Given the description of an element on the screen output the (x, y) to click on. 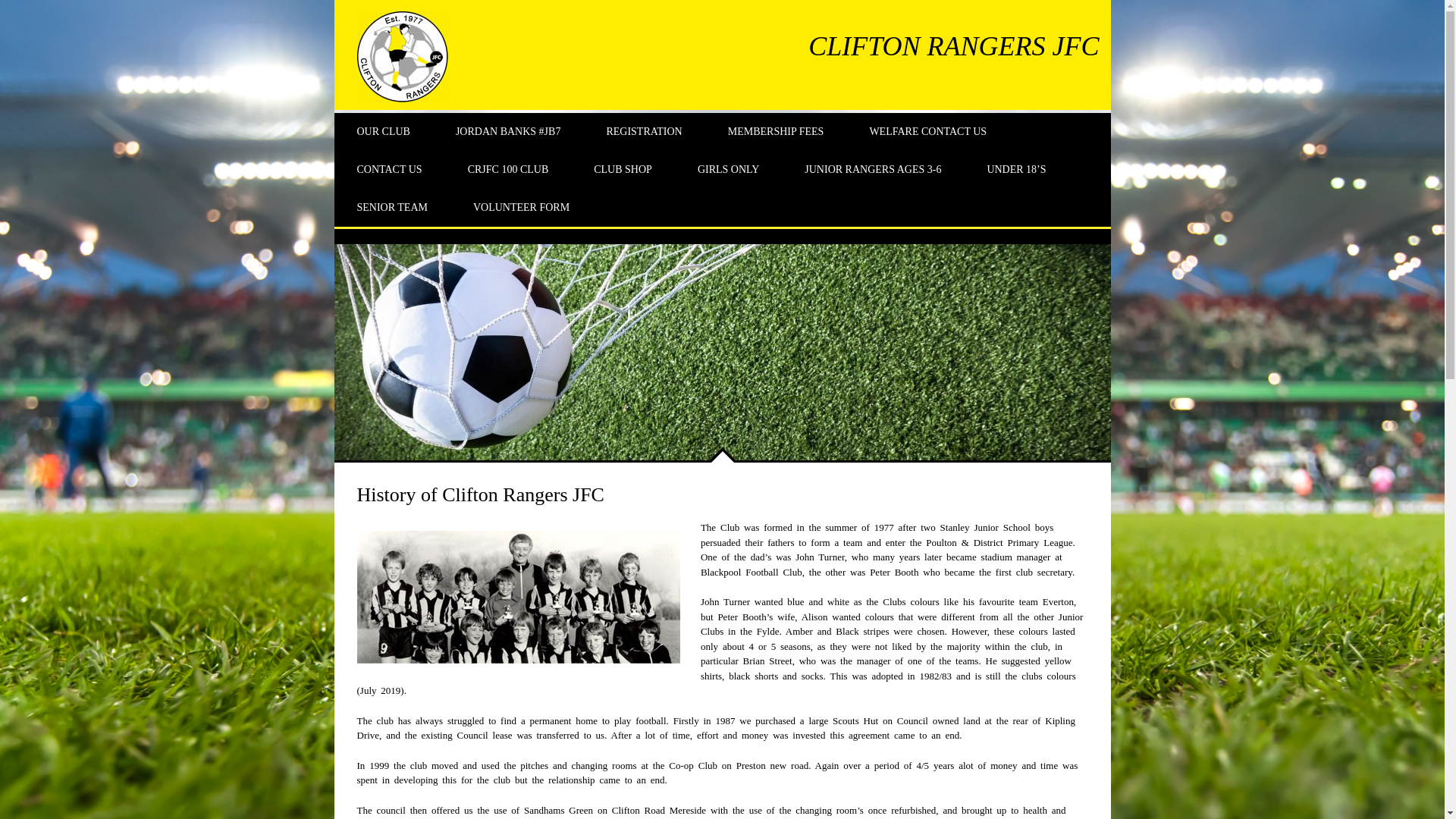
SENIOR TEAM (391, 207)
REGISTRATION (643, 131)
CONTACT US (388, 169)
GIRLS ONLY (728, 169)
MEMBERSHIP FEES (775, 131)
WELFARE CONTACT US (927, 131)
VOLUNTEER FORM (520, 207)
CLUB SHOP (622, 169)
JUNIOR RANGERS AGES 3-6 (872, 169)
CRJFC 100 CLUB (508, 169)
